Given the description of an element on the screen output the (x, y) to click on. 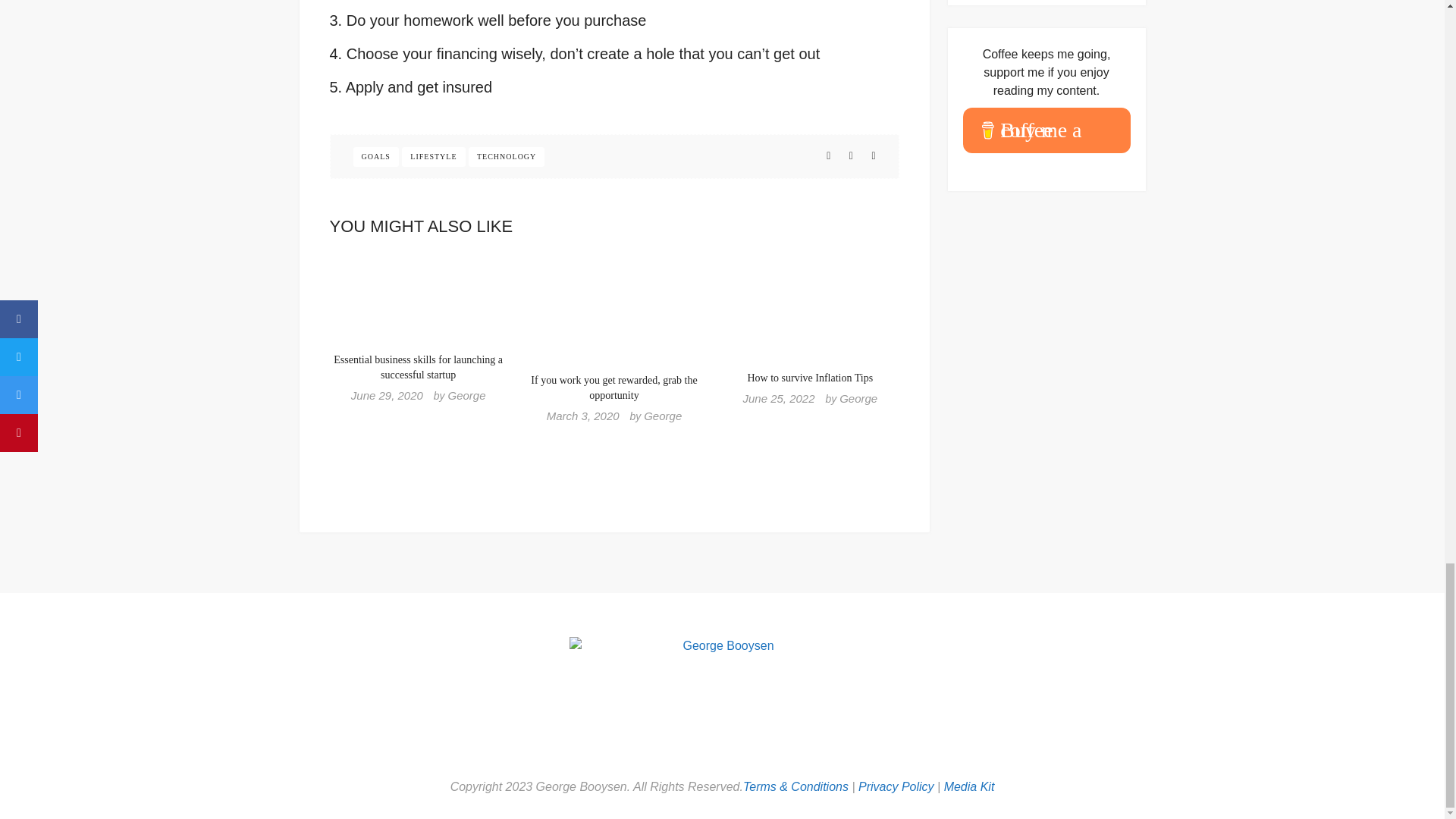
Essential business skills for launching a successful startup (417, 366)
June 29, 2020 (386, 395)
George (465, 395)
TECHNOLOGY (506, 157)
June 25, 2022 (777, 398)
George (662, 415)
LIFESTYLE (432, 157)
If you work you get rewarded, grab the opportunity (614, 387)
GOALS (375, 157)
March 3, 2020 (583, 415)
George (858, 398)
How to survive Inflation Tips (809, 378)
